Given the description of an element on the screen output the (x, y) to click on. 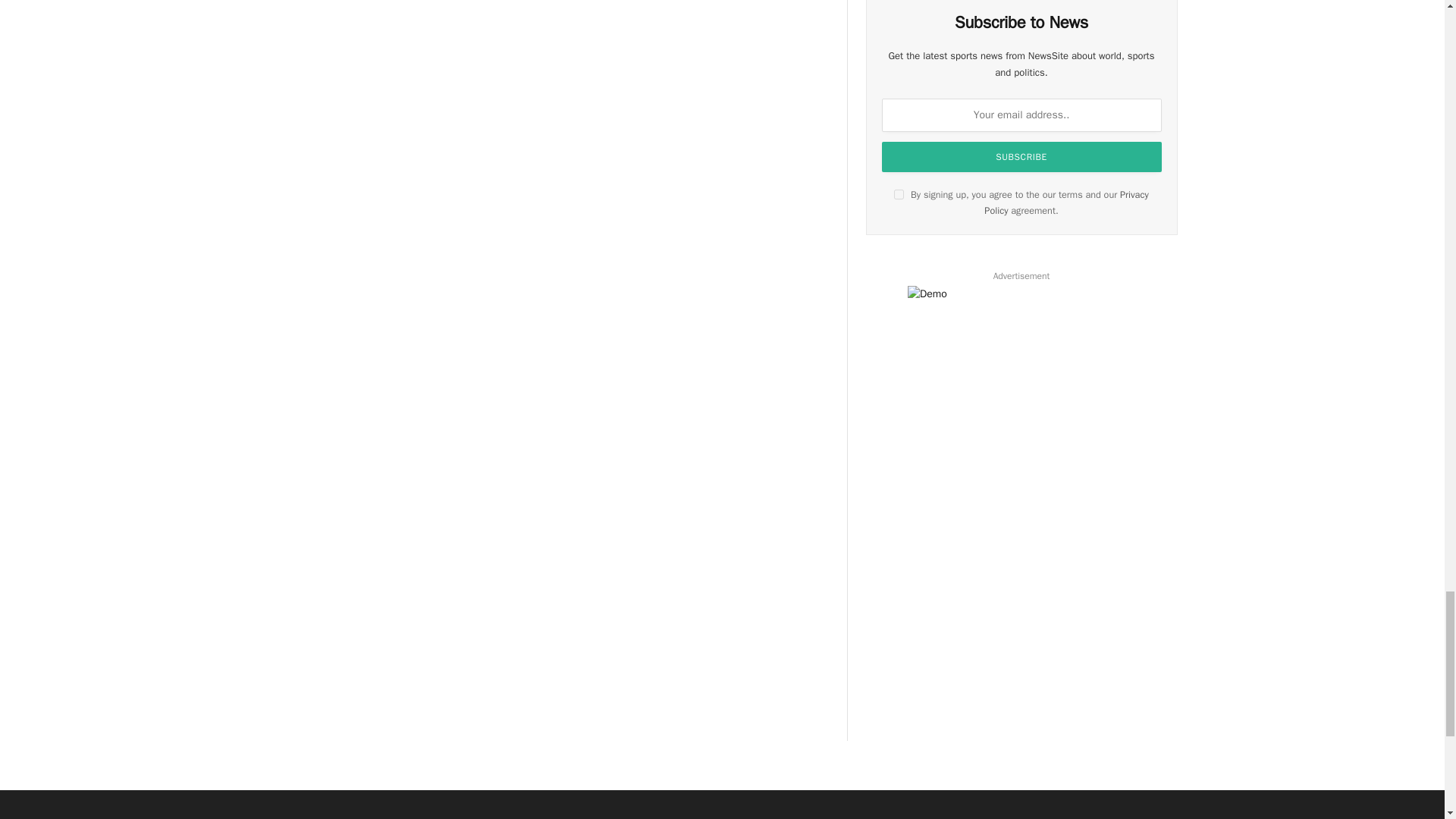
on (898, 194)
Subscribe (1021, 156)
